Given the description of an element on the screen output the (x, y) to click on. 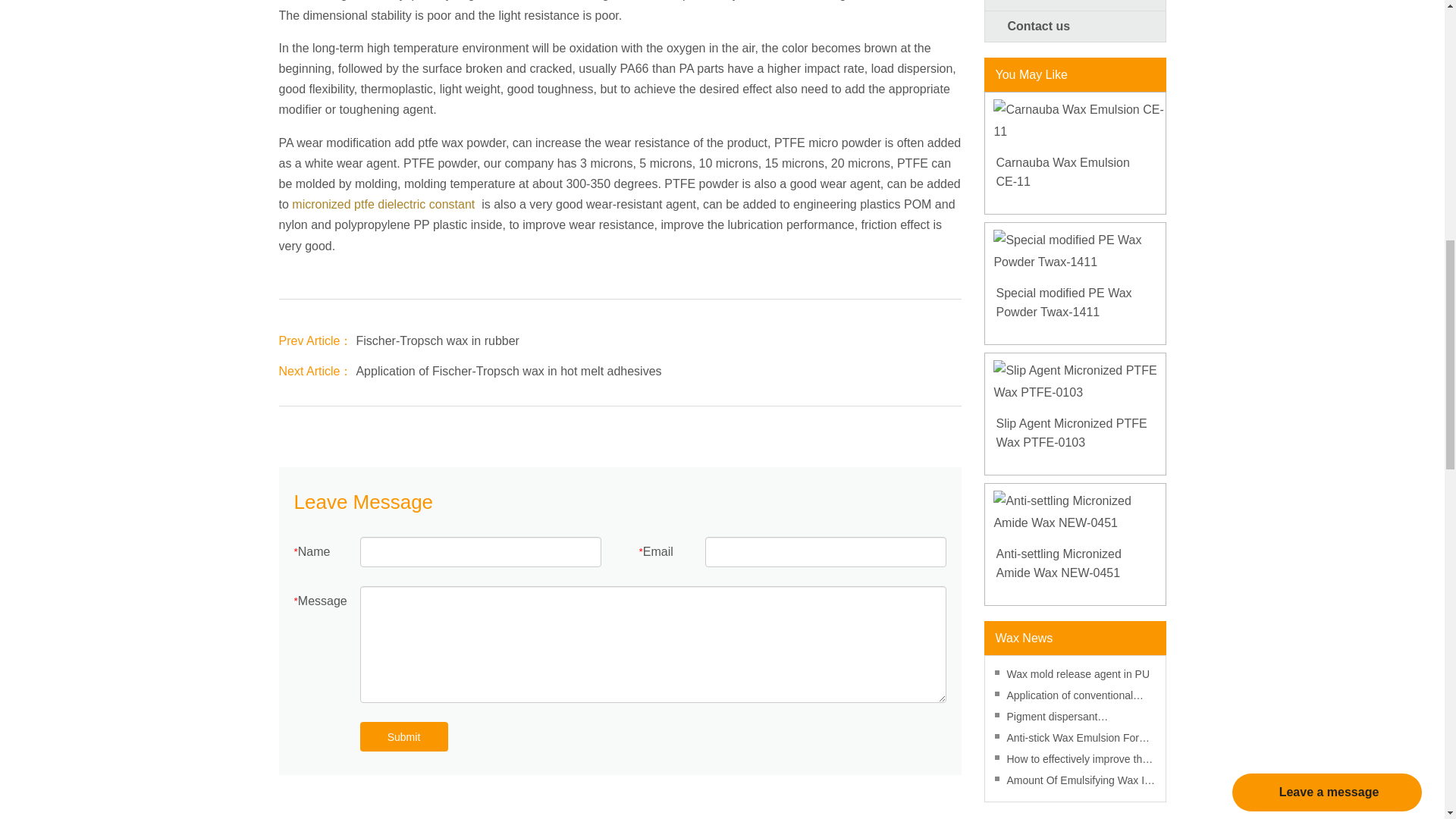
Special modified PE Wax Powder Twax-1411 (1074, 251)
Carnauba Wax Emulsion CE-11 (1074, 172)
Carnauba Wax Emulsion CE-11 (1074, 121)
Special modified PE Wax Powder Twax-1411 (1074, 302)
